Given the description of an element on the screen output the (x, y) to click on. 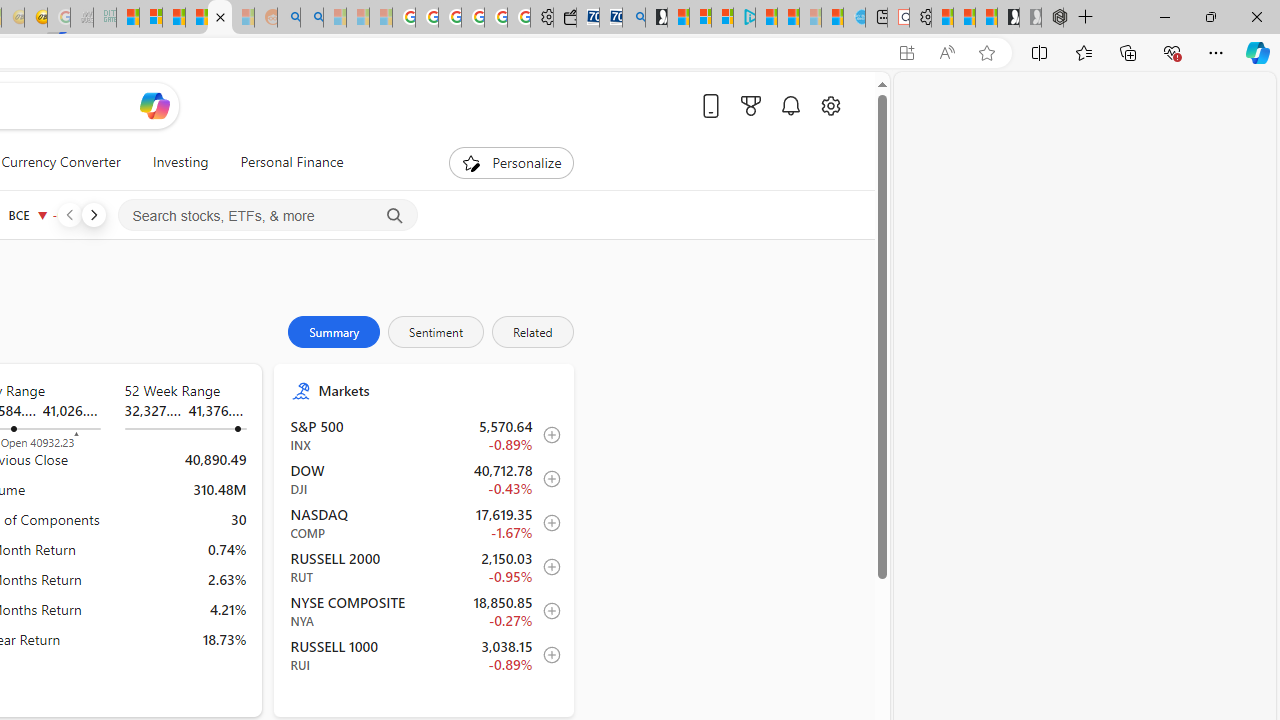
DITOGAMES AG Imprint - Sleeping (104, 17)
